Given the description of an element on the screen output the (x, y) to click on. 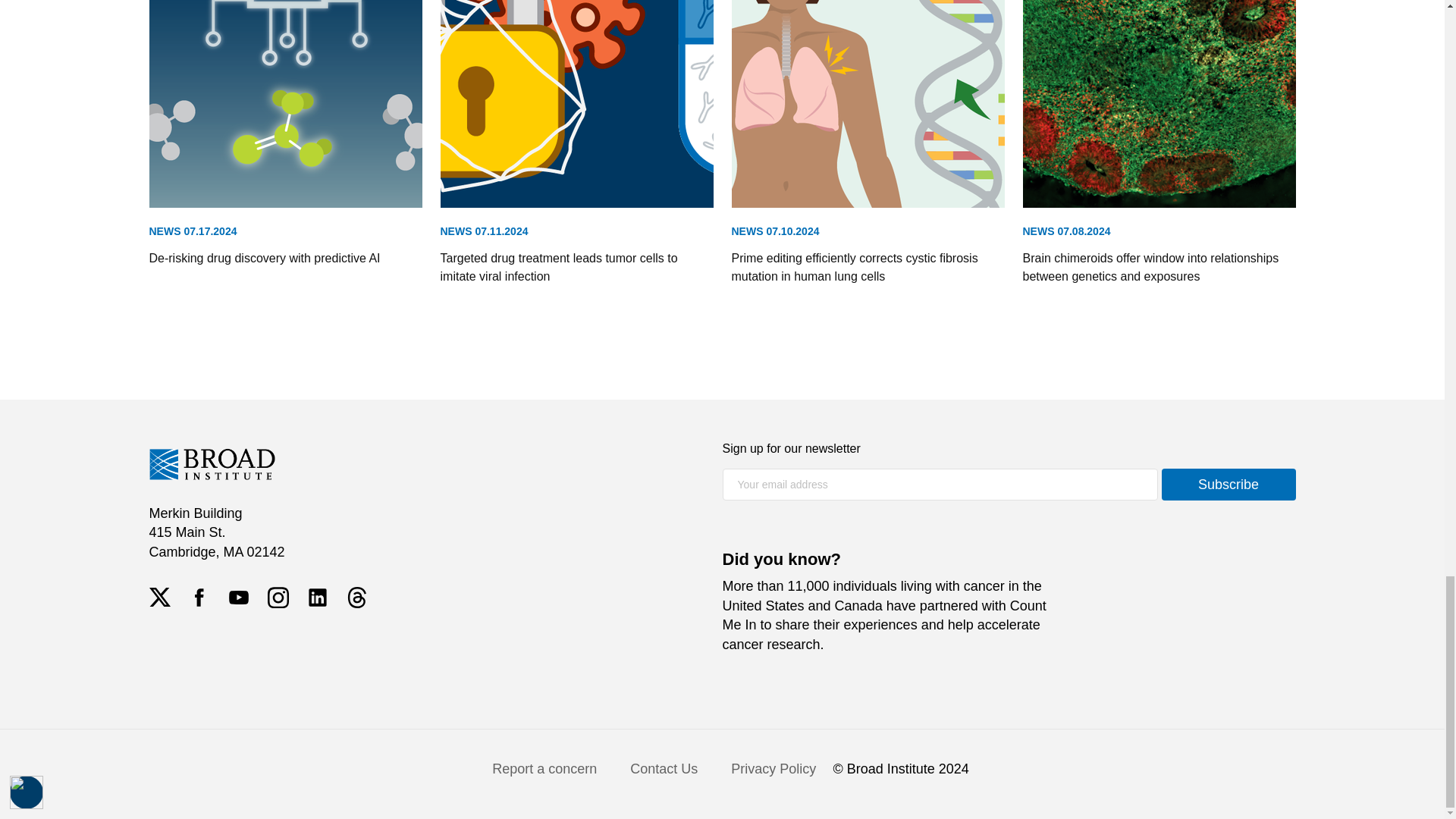
Subscribe (1228, 483)
